Given the description of an element on the screen output the (x, y) to click on. 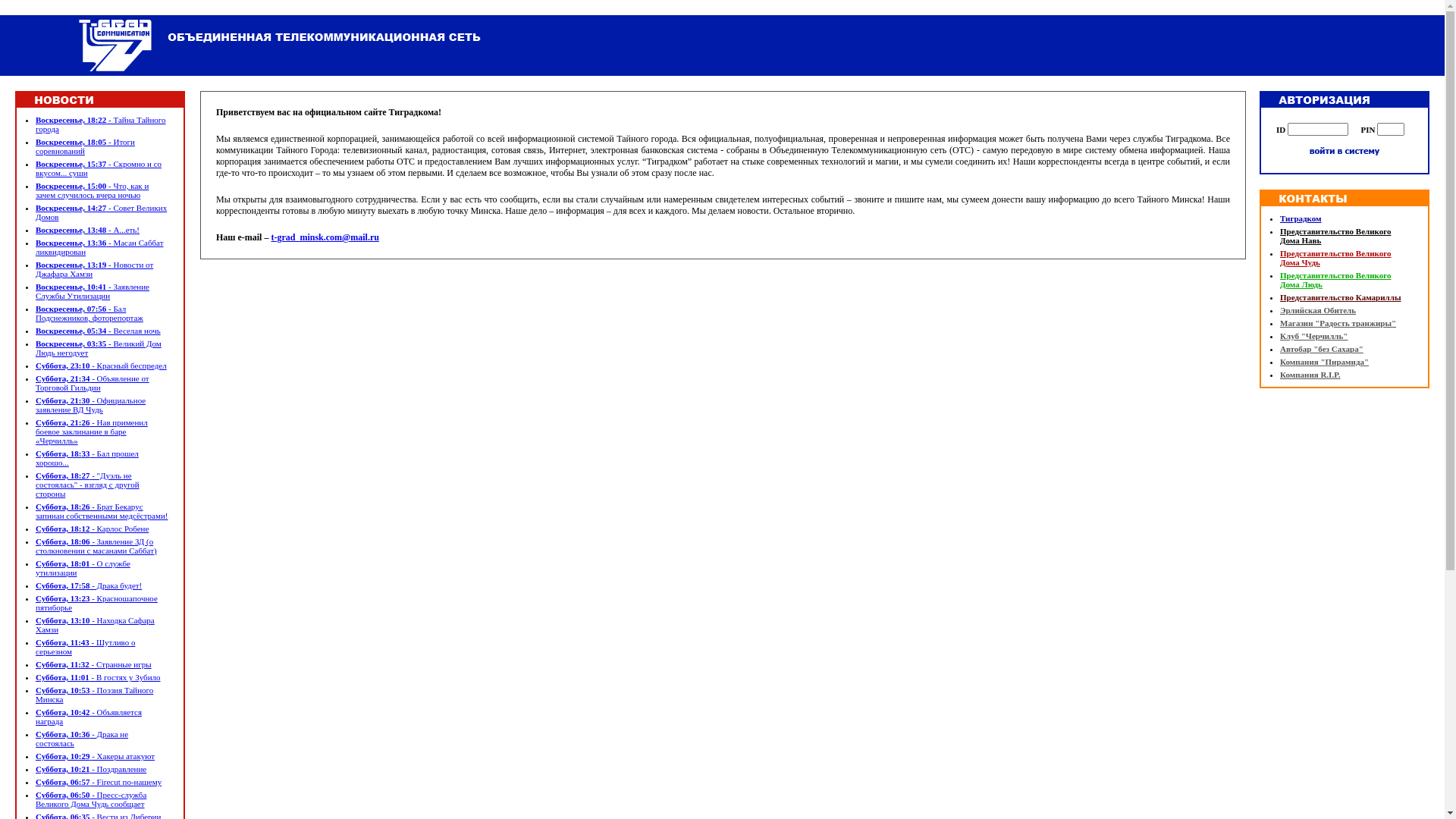
t-grad_minsk.com@mail.ru Element type: text (324, 237)
